Given the description of an element on the screen output the (x, y) to click on. 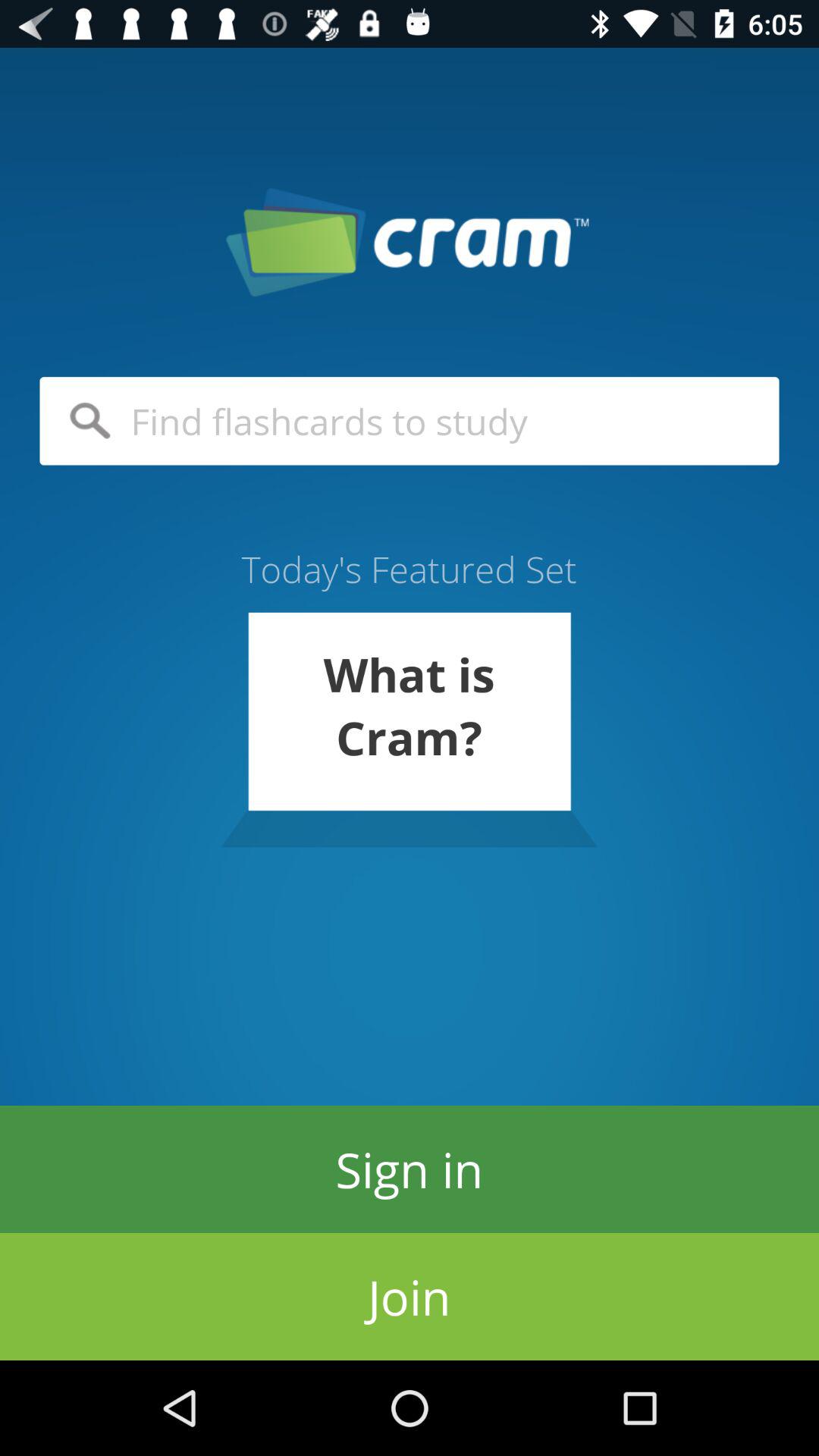
swipe until the find flashcards to (409, 421)
